Given the description of an element on the screen output the (x, y) to click on. 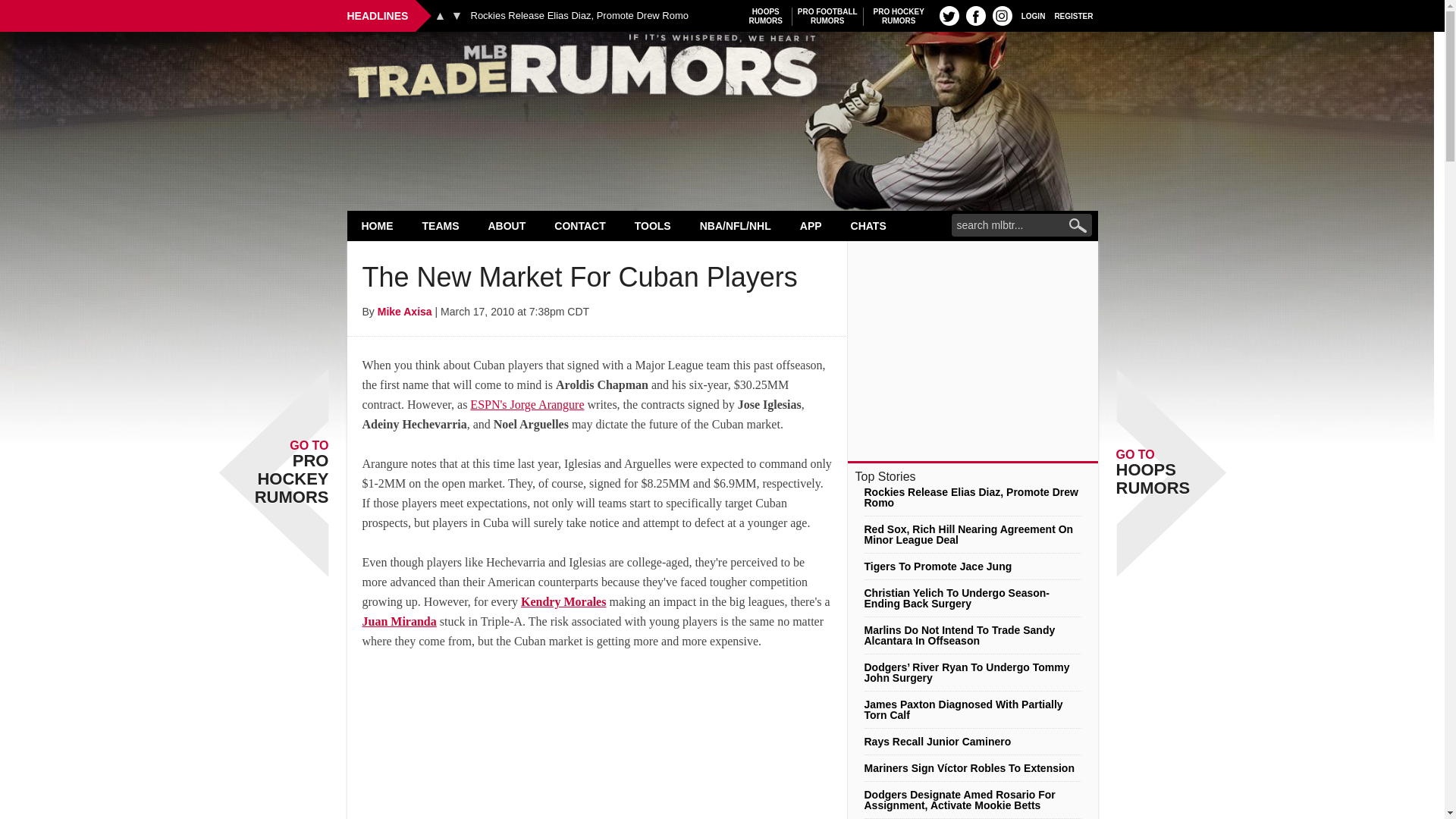
FB profile (975, 15)
Rockies Release Elias Diaz, Promote Drew Romo (579, 15)
Next (898, 16)
LOGIN (456, 15)
MLB Trade Rumors (827, 16)
Previous (1032, 15)
Twitter profile (722, 69)
